Given the description of an element on the screen output the (x, y) to click on. 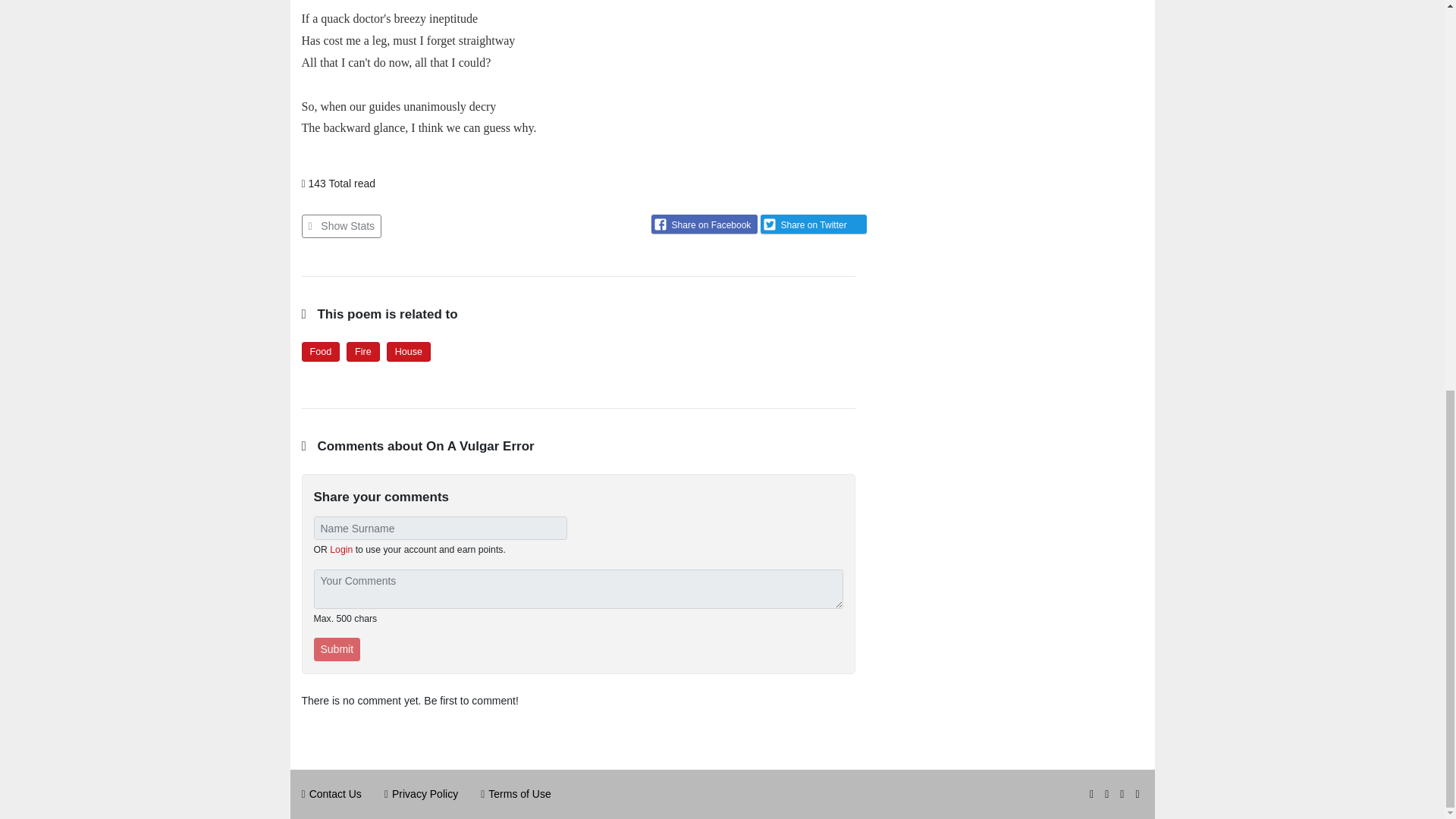
Contact Us (334, 793)
House (408, 351)
  Show Stats (341, 226)
Login (341, 549)
Share on Twitter (813, 223)
Contact Us (334, 793)
Privacy Policy (424, 793)
Share on Facebook (703, 223)
Submit (337, 649)
Food (319, 351)
Terms of Use (518, 793)
Fire (363, 351)
Terms of Use (518, 793)
Privacy Policy (424, 793)
